Given the description of an element on the screen output the (x, y) to click on. 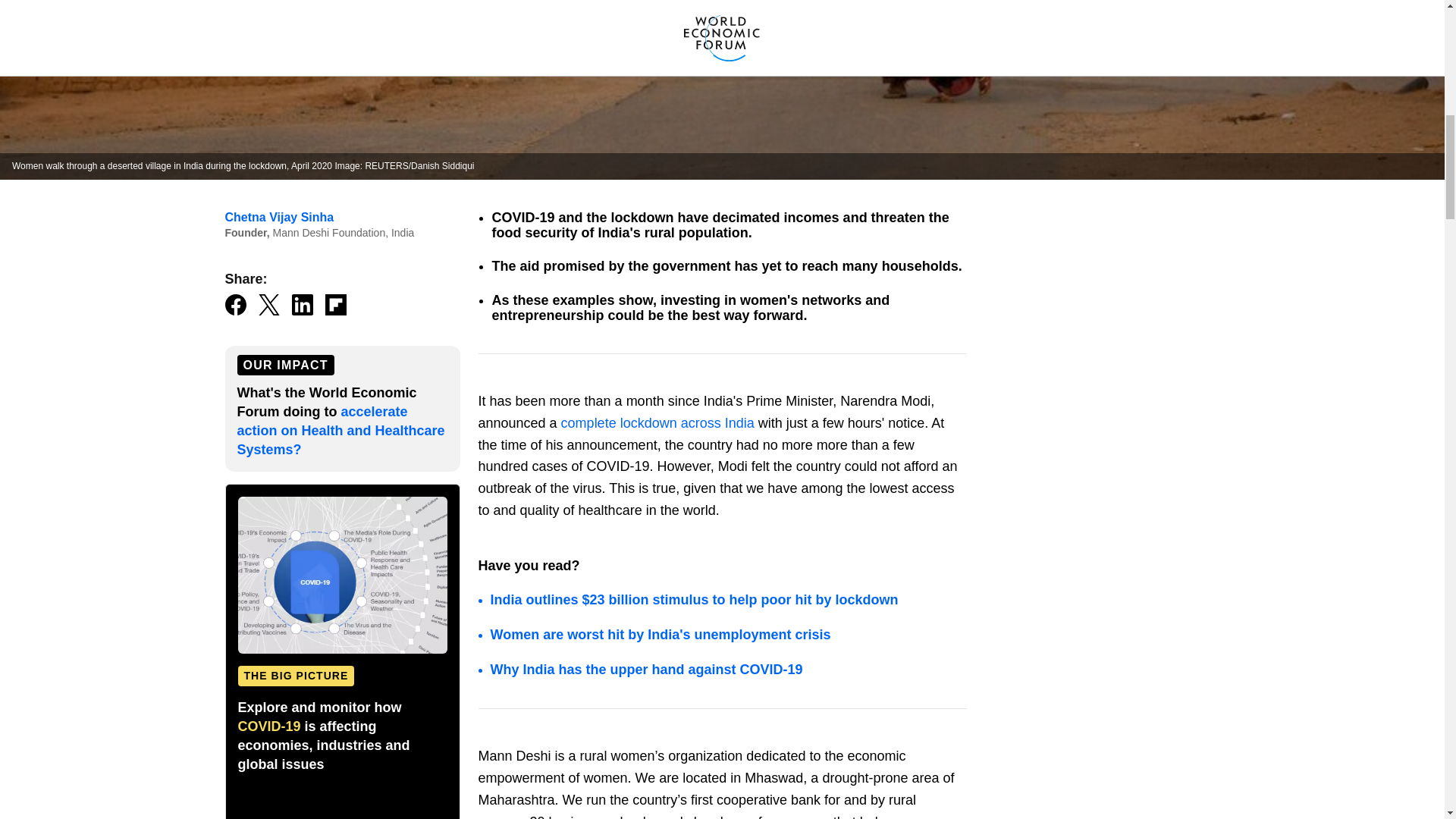
complete lockdown across India (657, 422)
Chetna Vijay Sinha (278, 216)
Women are worst hit by India's unemployment crisis (659, 634)
Why India has the upper hand against COVID-19  (647, 669)
